Given the description of an element on the screen output the (x, y) to click on. 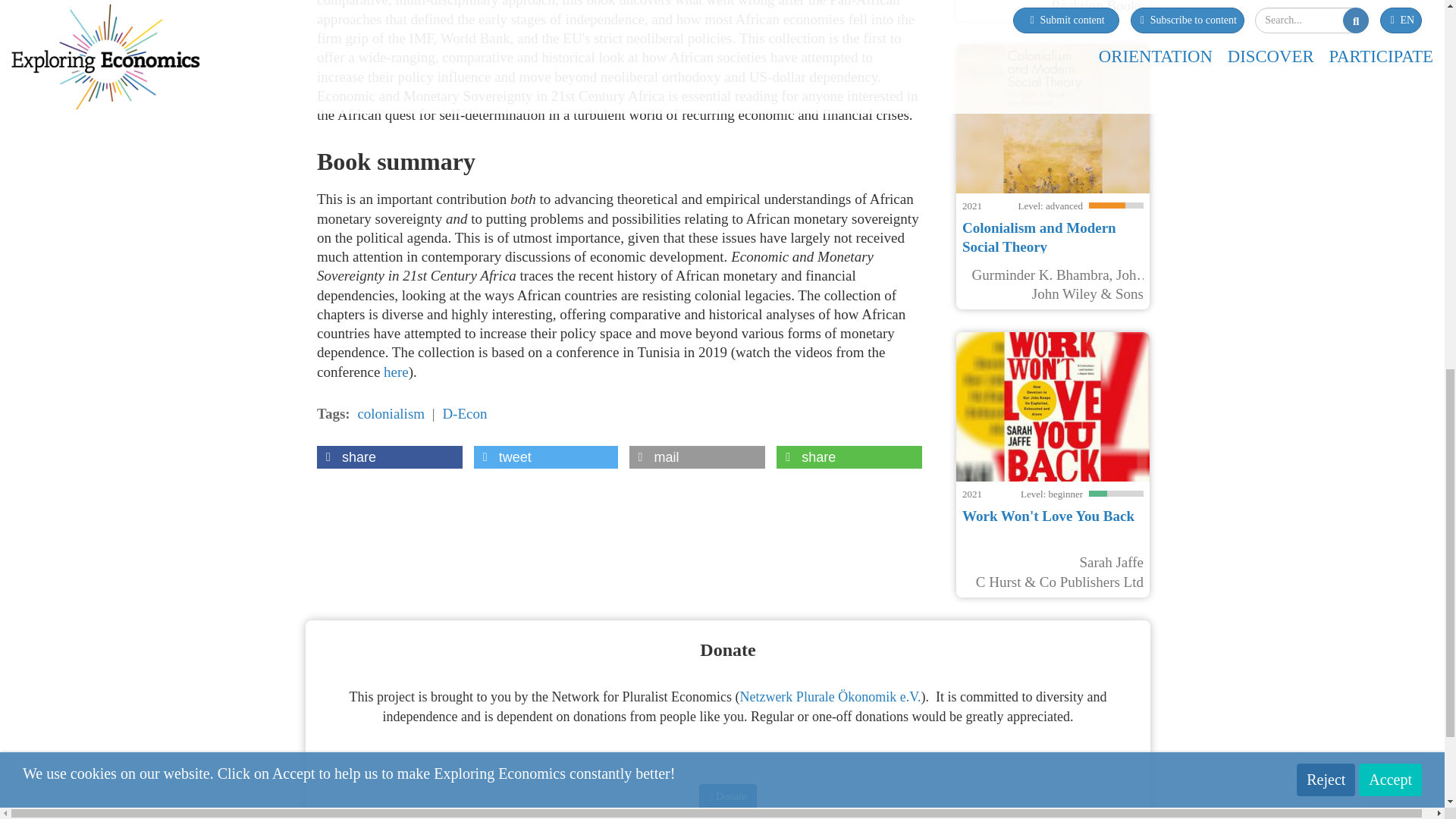
tweet (545, 456)
colonialism (390, 413)
Send by email (696, 456)
Share on Twitter (545, 456)
share (390, 456)
here (396, 371)
D-Econ (464, 413)
Share on Facebook (390, 456)
Share on Whatsapp (848, 456)
mail (696, 456)
